Given the description of an element on the screen output the (x, y) to click on. 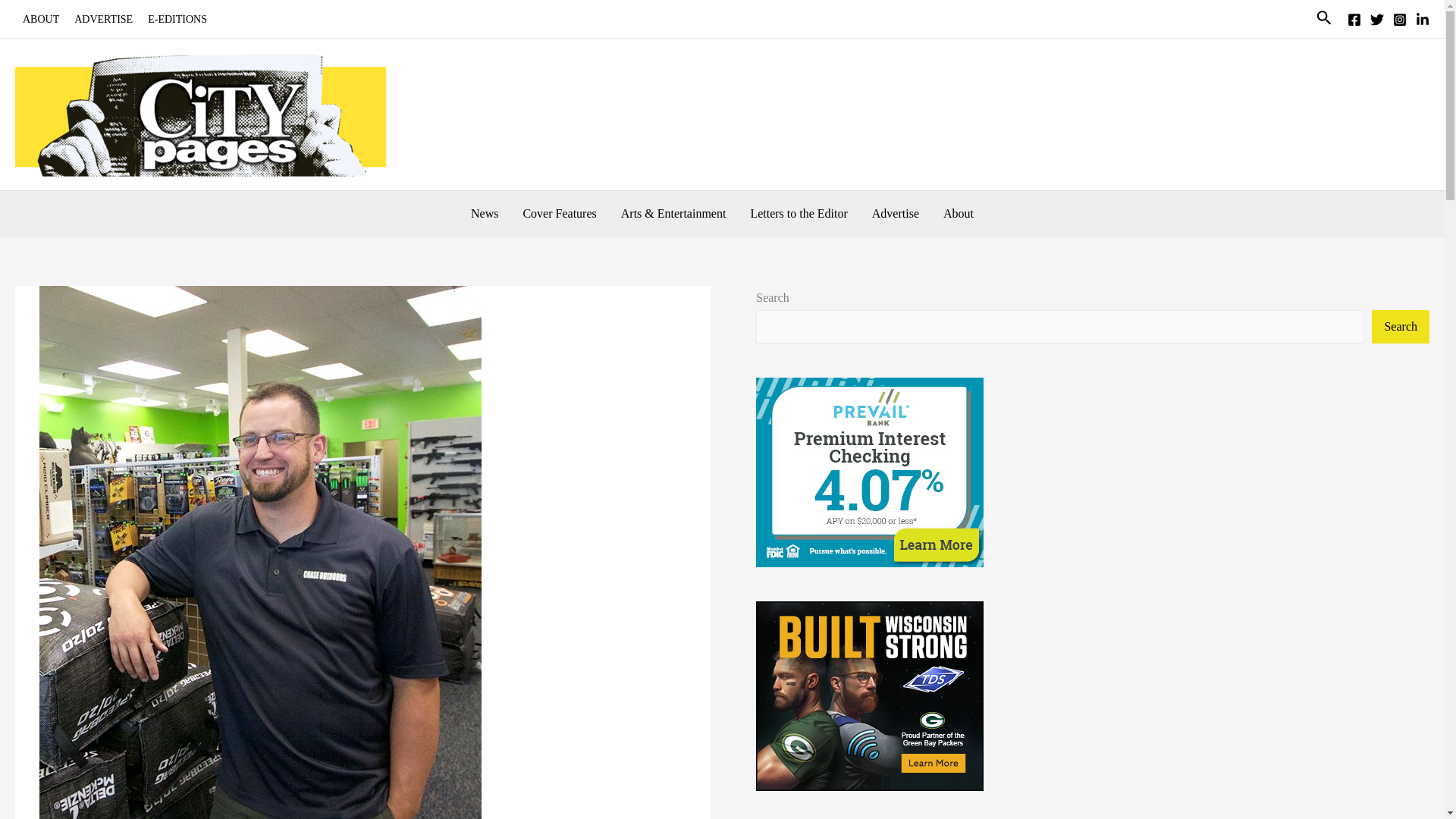
ABOUT (41, 19)
Cover Features (559, 213)
About (958, 213)
Letters to the Editor (798, 213)
E-EDITIONS (177, 19)
ADVERTISE (103, 19)
Advertise (895, 213)
News (484, 213)
